Given the description of an element on the screen output the (x, y) to click on. 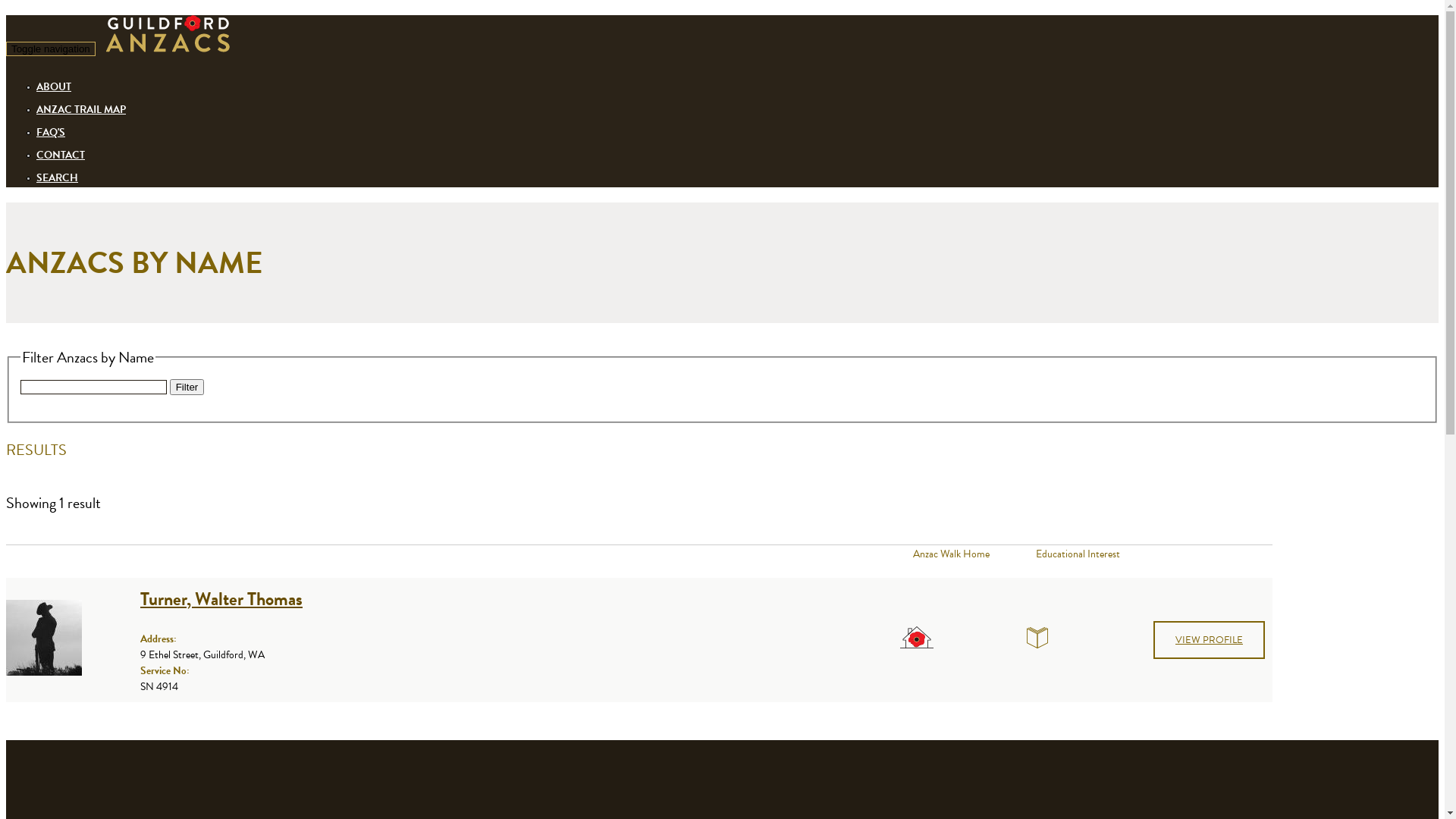
Home Element type: hover (167, 46)
SEARCH Element type: text (57, 177)
Toggle navigation Element type: text (50, 48)
ABOUT Element type: text (53, 86)
Turner, Walter Thomas Element type: text (221, 598)
CONTACT Element type: text (60, 155)
FAQ'S Element type: text (50, 132)
Filter Element type: text (186, 387)
VIEW PROFILE Element type: text (1208, 639)
ANZAC TRAIL MAP Element type: text (80, 109)
Skip to main content Element type: text (67, 15)
